Given the description of an element on the screen output the (x, y) to click on. 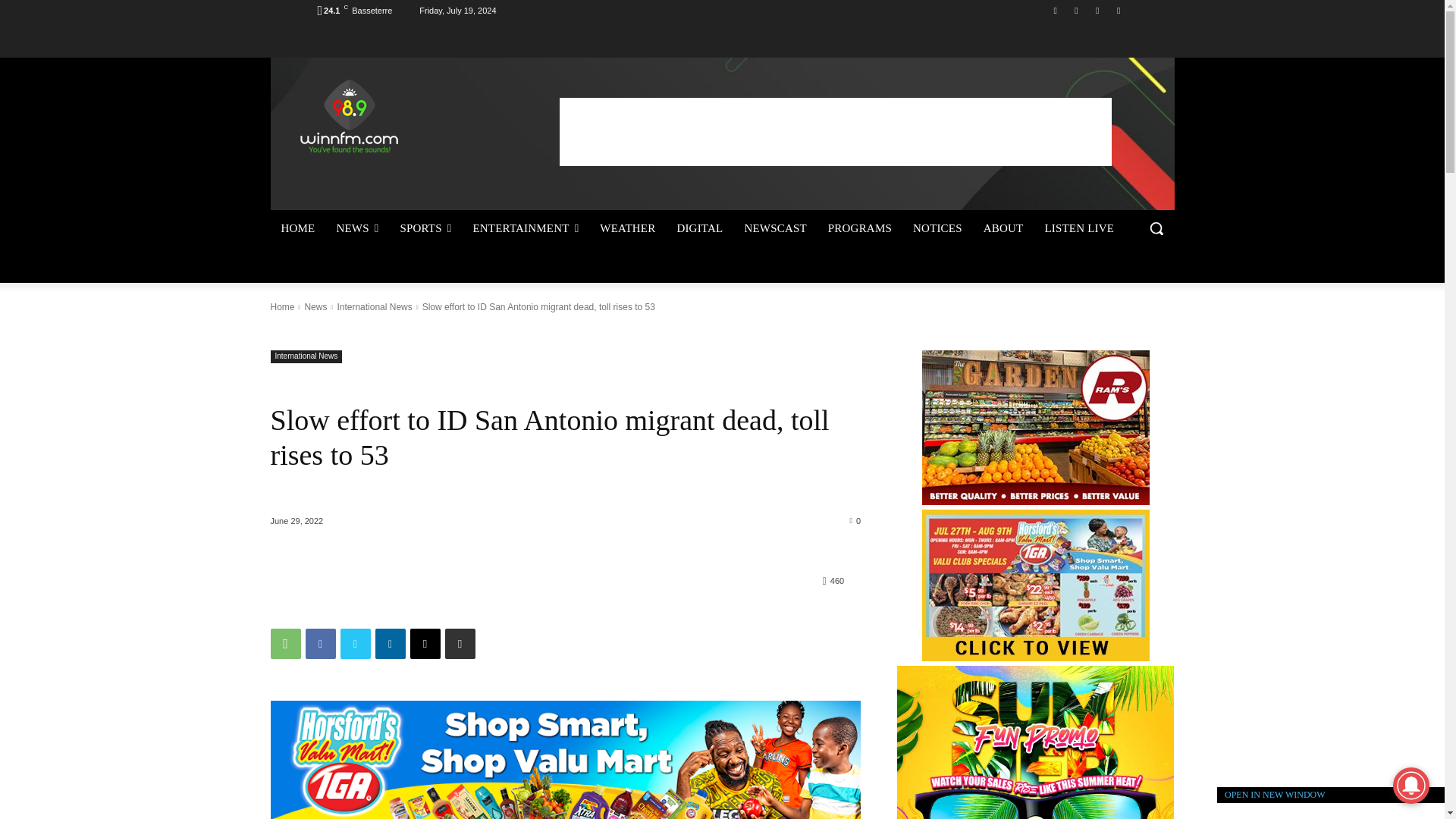
Advertisement (835, 131)
Instagram (1075, 9)
Youtube (1117, 9)
Facebook (1055, 9)
Twitter (1097, 9)
NEWS (356, 227)
HOME (296, 227)
